Given the description of an element on the screen output the (x, y) to click on. 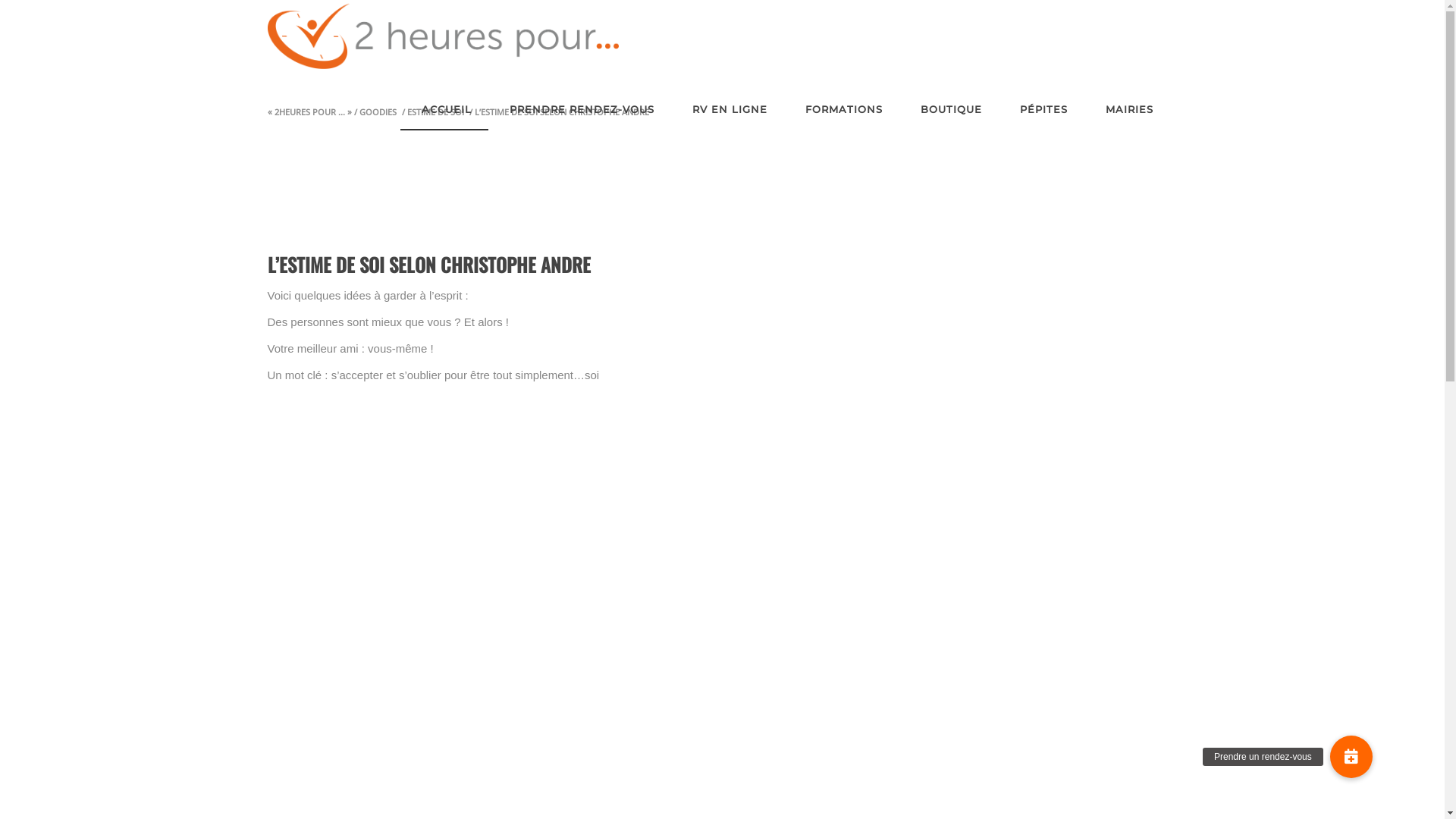
BOUTIQUE Element type: text (948, 108)
RV EN LIGNE Element type: text (726, 108)
PRENDRE RENDEZ-VOUS Element type: text (579, 108)
Prendre un rendez-vous Element type: text (1351, 756)
MAIRIES Element type: text (1127, 108)
FORMATIONS Element type: text (841, 108)
ESTIME DE SOI Element type: text (435, 111)
GOODIES Element type: text (426, 238)
ACCUEIL Element type: text (444, 108)
GOODIES Element type: text (377, 111)
ESTIME DE SOI Element type: text (374, 238)
